Given the description of an element on the screen output the (x, y) to click on. 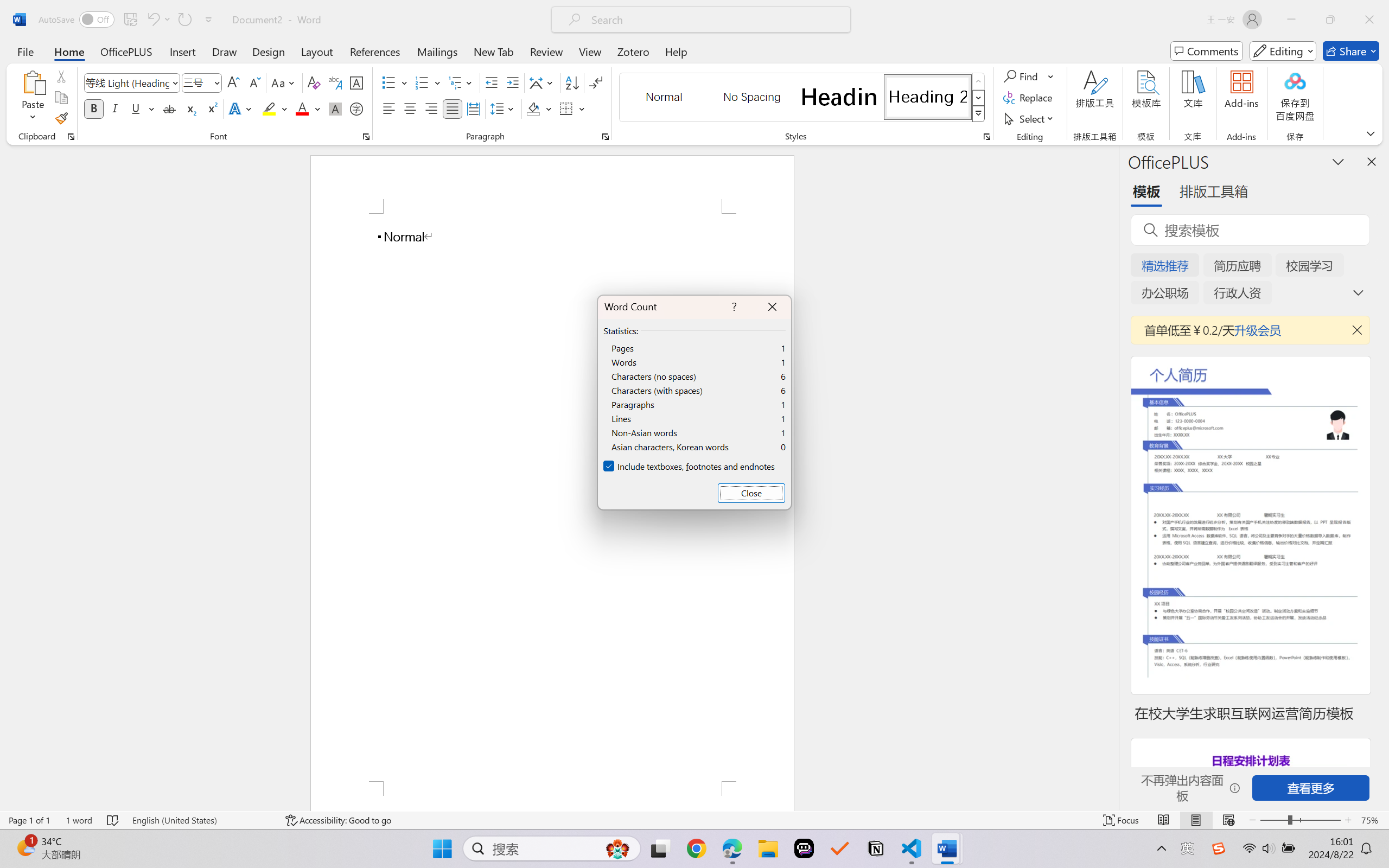
Read Mode (1163, 819)
Help (675, 51)
Underline (135, 108)
Enclose Characters... (356, 108)
Design (268, 51)
Paste (33, 97)
Change Case (284, 82)
Draw (224, 51)
Save (130, 19)
